Given the description of an element on the screen output the (x, y) to click on. 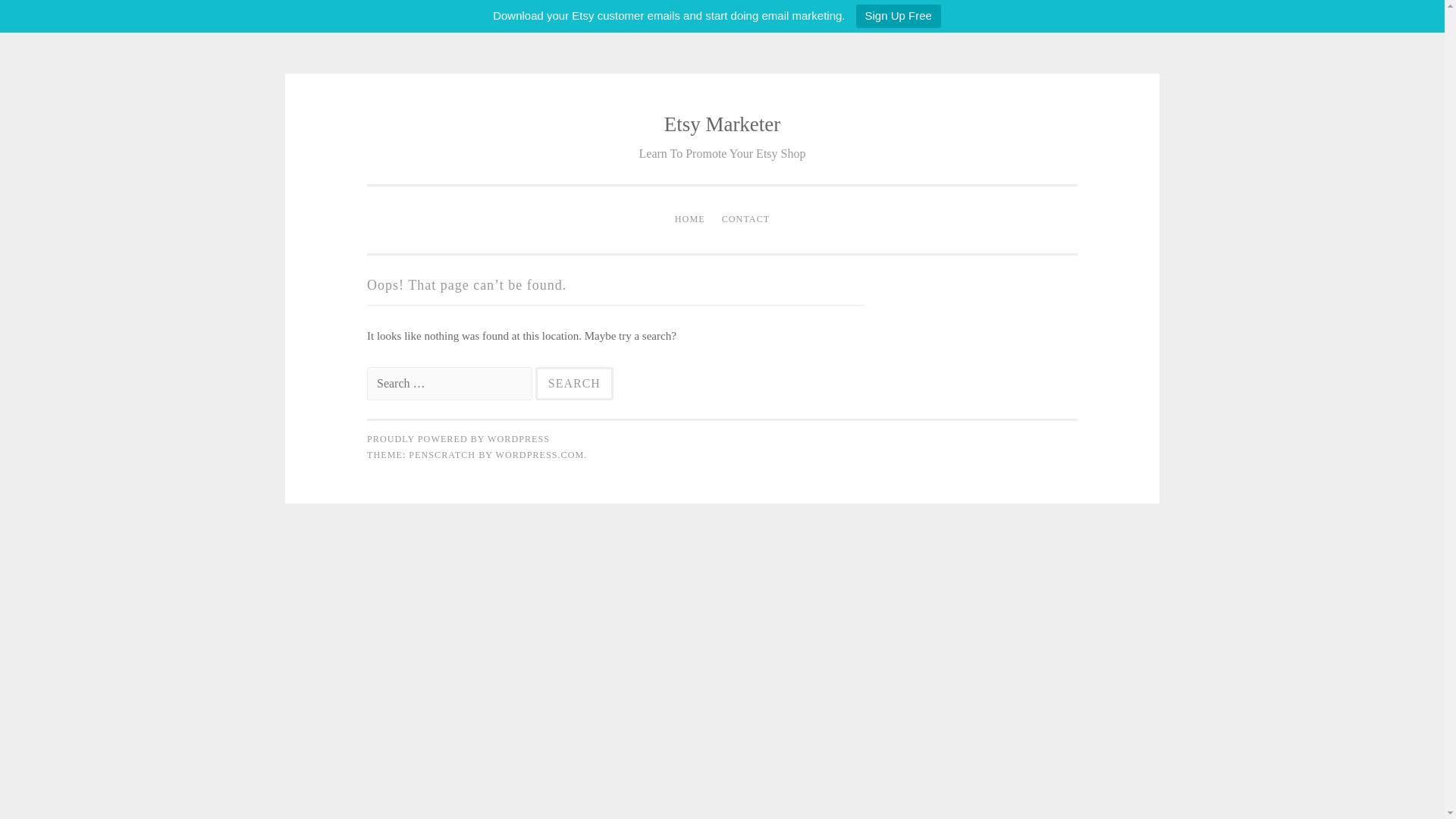
Etsy Marketer (721, 124)
Search (573, 383)
Sign Up Free (898, 15)
CONTACT (745, 219)
Search (573, 383)
WORDPRESS.COM (539, 454)
Search (573, 383)
PROUDLY POWERED BY WORDPRESS (458, 439)
HOME (689, 219)
